Given the description of an element on the screen output the (x, y) to click on. 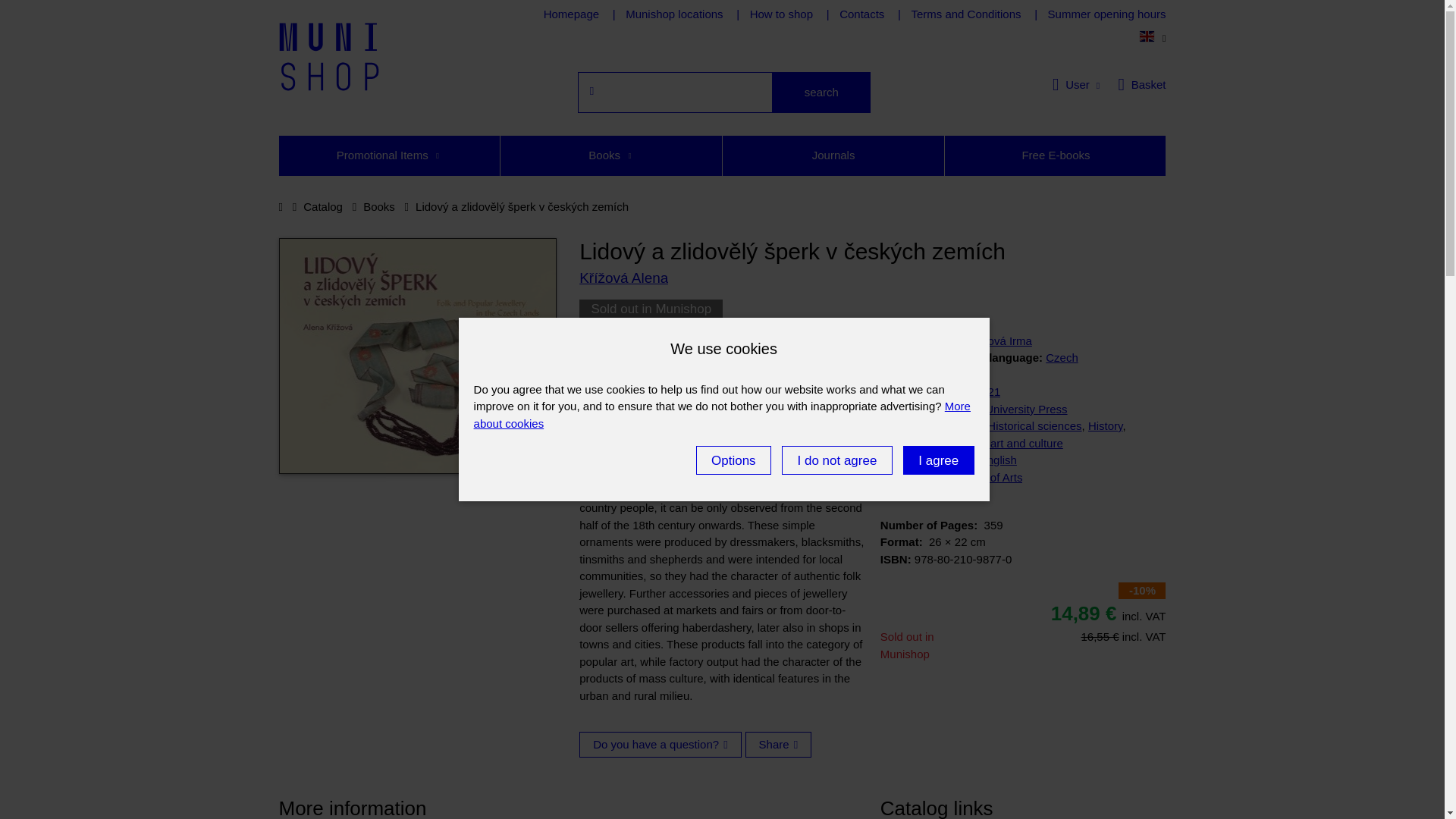
Catalog (322, 205)
How to shop (780, 13)
Summer opening hours (1107, 13)
I do not agree (836, 459)
MUNISHOP (329, 56)
Contacts (861, 13)
I agree (938, 459)
Options (733, 459)
Terms and Conditions (965, 13)
Basket (1142, 85)
